Given the description of an element on the screen output the (x, y) to click on. 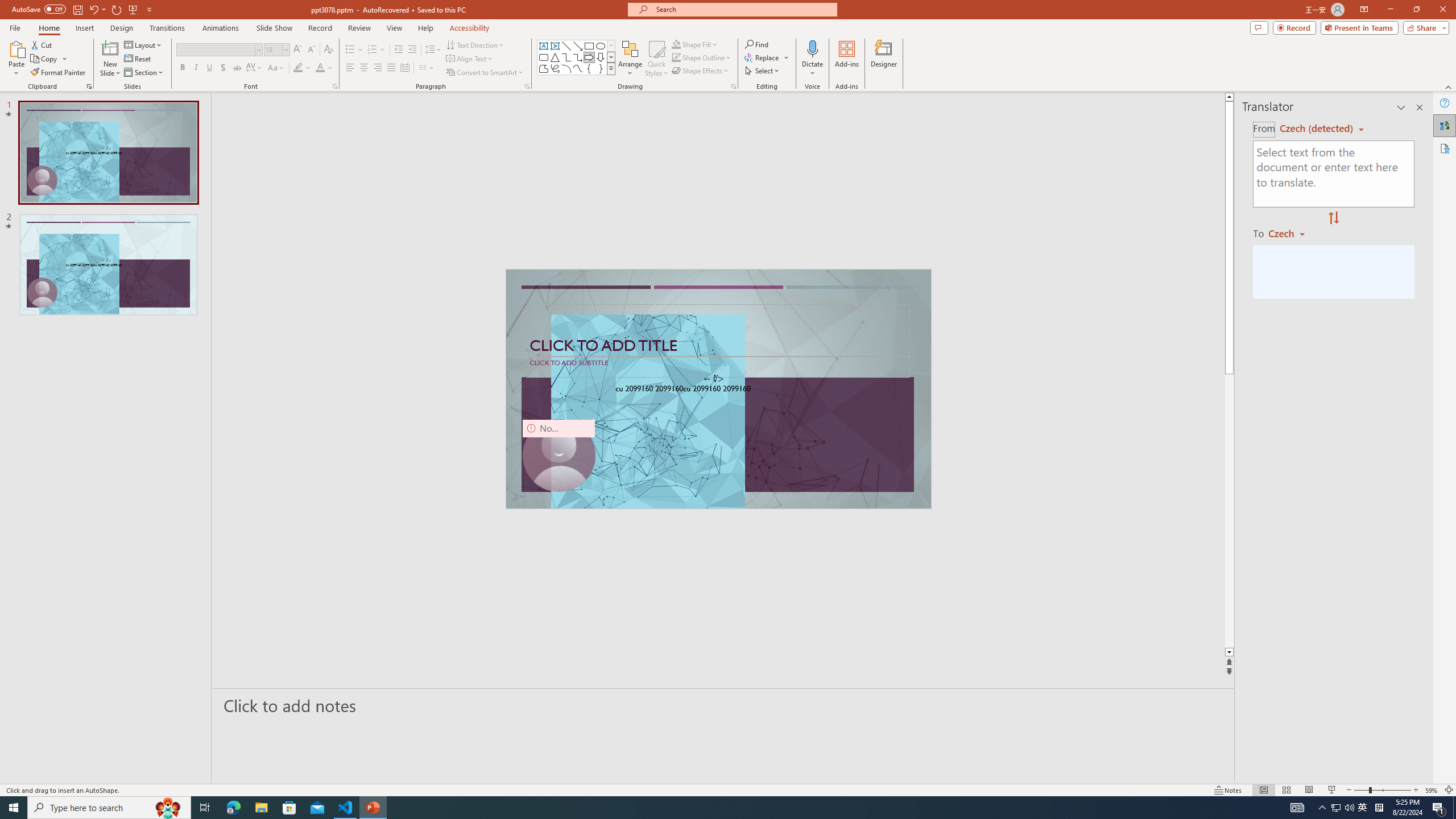
Text Direction (476, 44)
Decrease Font Size (310, 49)
Strikethrough (237, 67)
Change Case (276, 67)
Select (762, 69)
Shape Fill Dark Green, Accent 2 (675, 44)
